Given the description of an element on the screen output the (x, y) to click on. 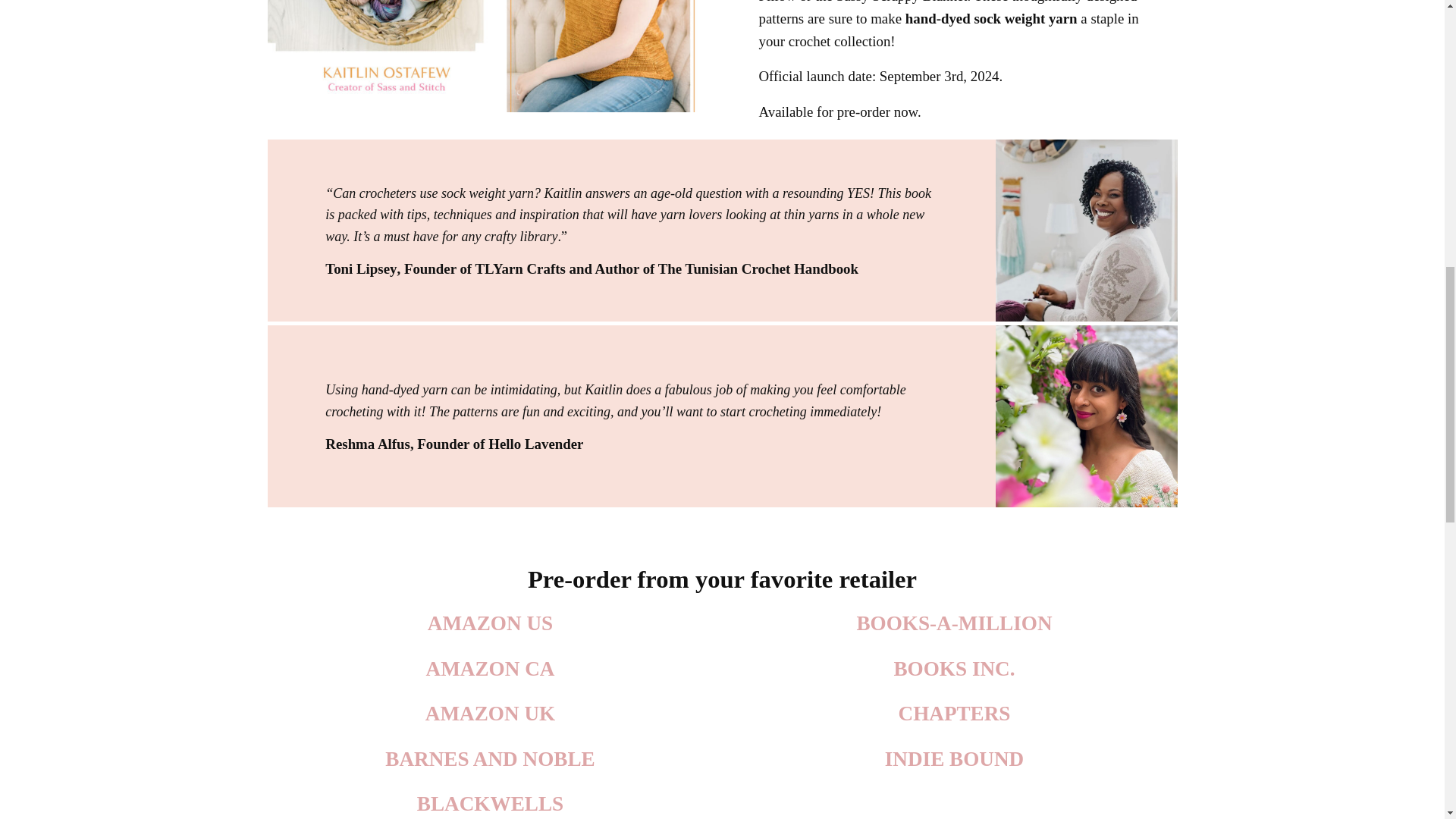
BARNES AND NOBLE (489, 758)
AMAZON US (490, 622)
BLACKWELLS (489, 803)
BOOKS INC. (953, 668)
INDIE BOUND (954, 758)
AMAZON CA (490, 668)
BOOKS-A-MILLION (953, 622)
AMAZON UK (489, 712)
CHAPTERS (954, 712)
